Given the description of an element on the screen output the (x, y) to click on. 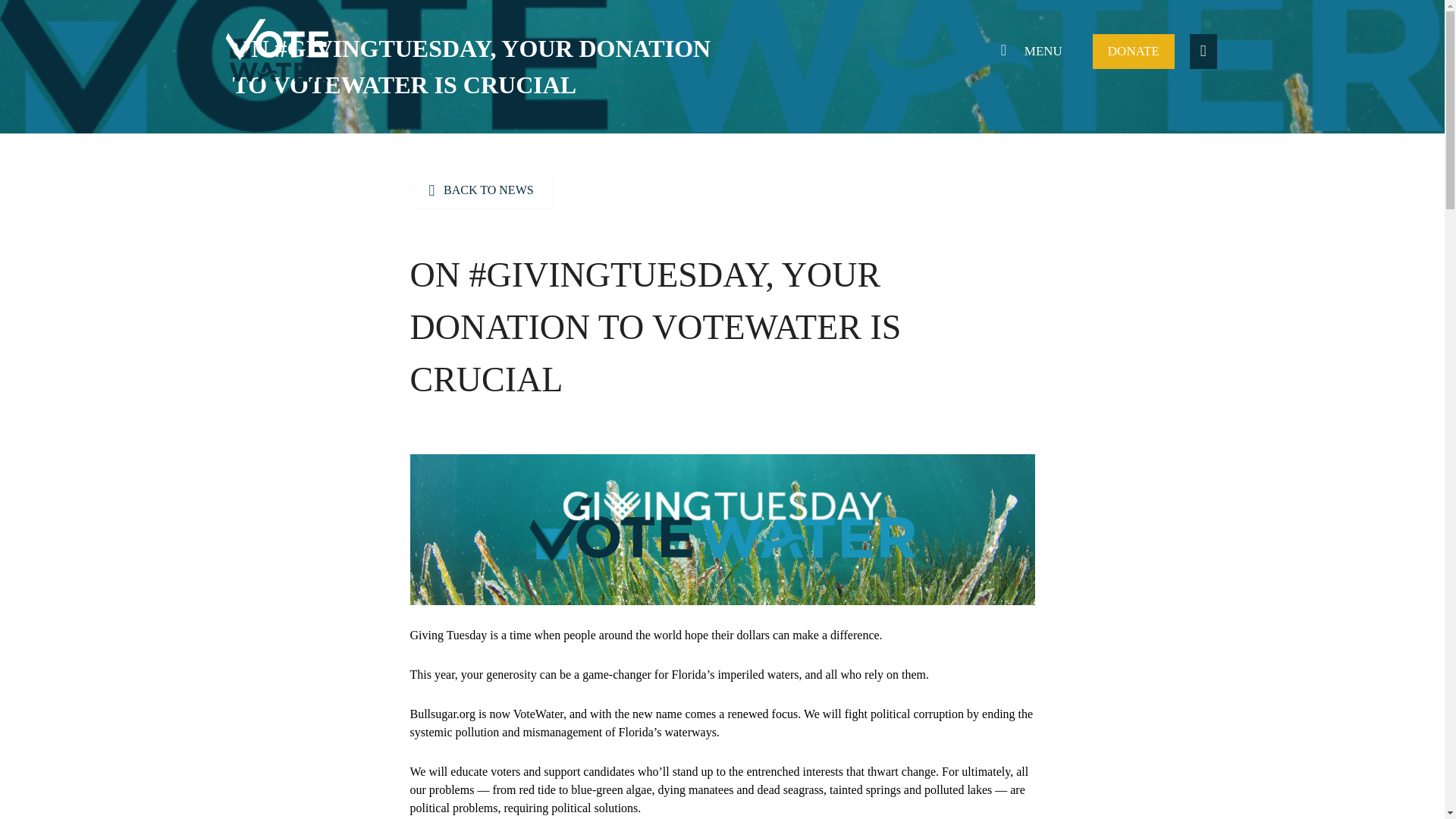
Donate (1133, 51)
VoteWater.org (276, 50)
MENU (1027, 51)
DONATE (1133, 51)
BACK TO NEWS (480, 190)
